Given the description of an element on the screen output the (x, y) to click on. 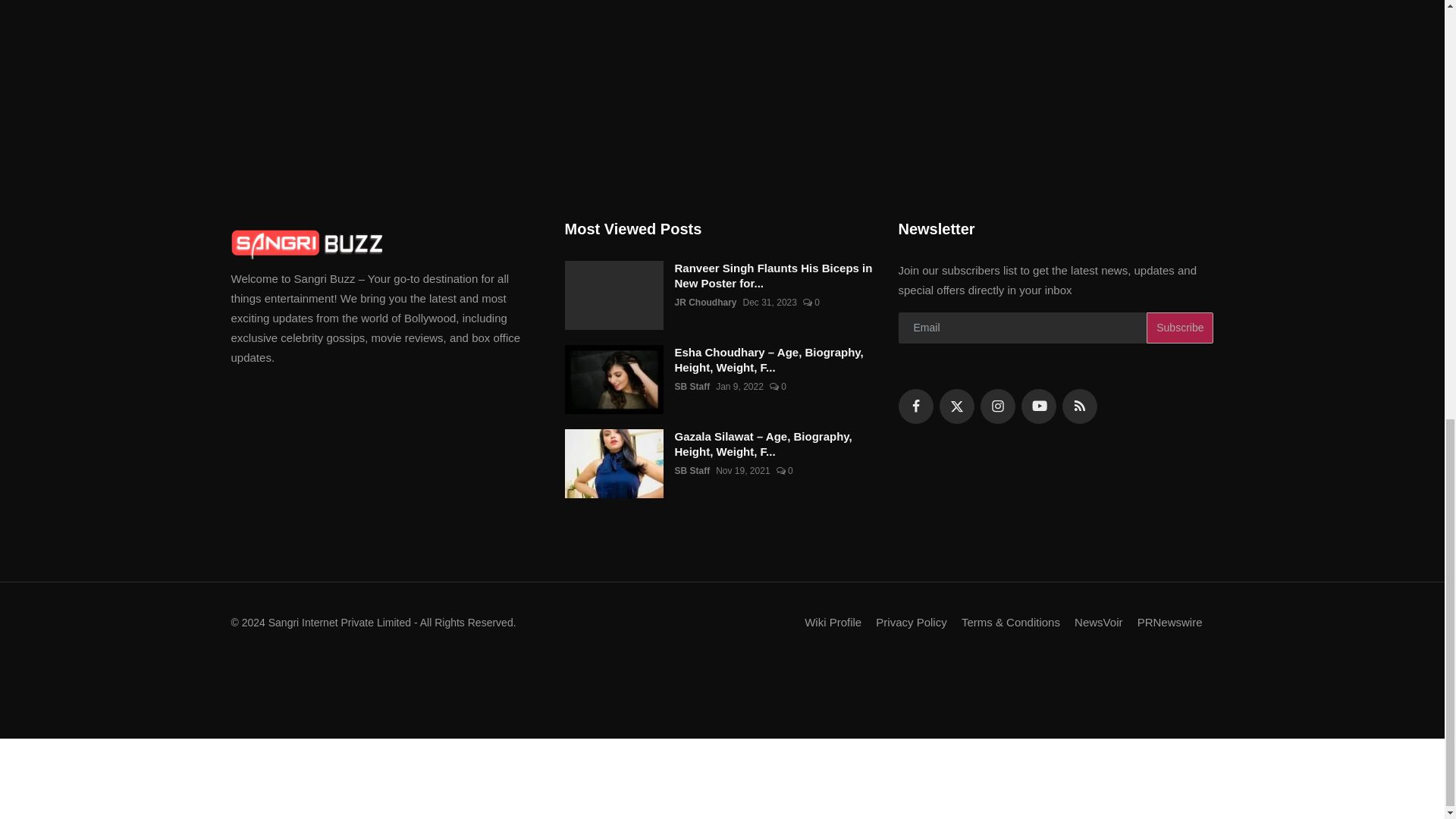
Advertisement (721, 780)
Advertisement (721, 704)
Advertisement (721, 110)
